Given the description of an element on the screen output the (x, y) to click on. 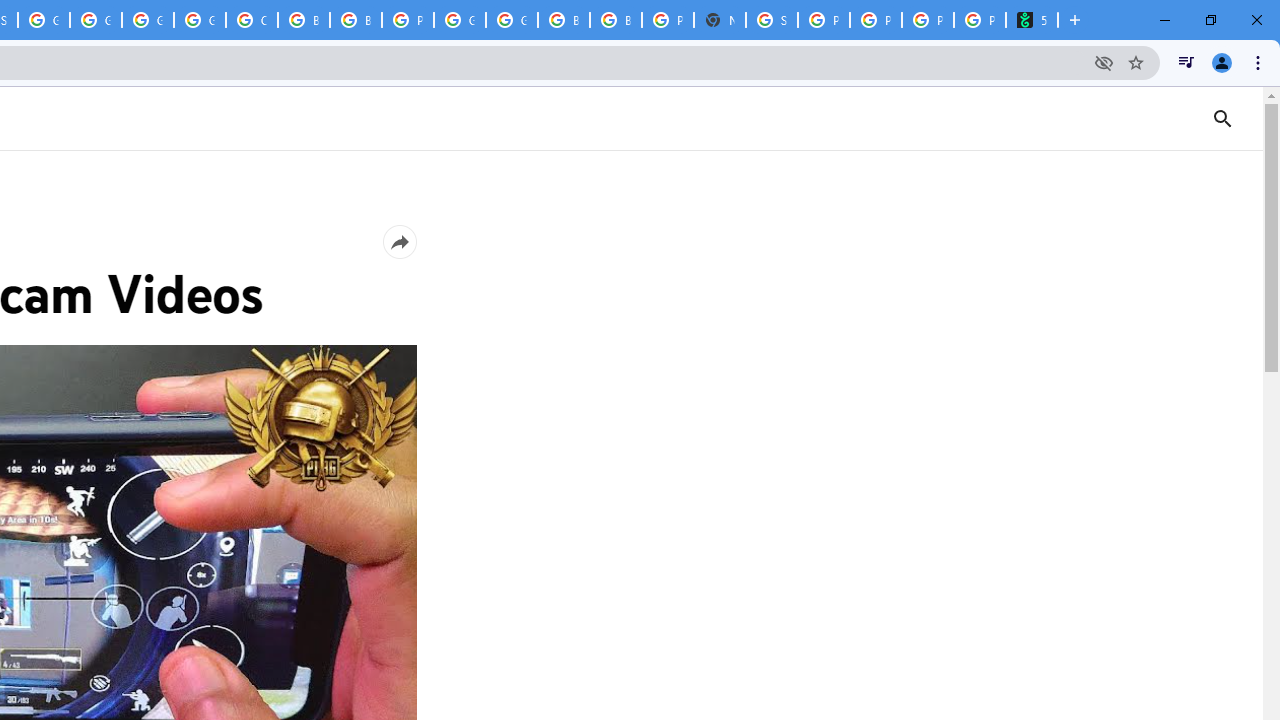
Google Cloud Platform (511, 20)
New Tab (719, 20)
Privacy Checkup (927, 20)
Google Cloud Platform (147, 20)
Browse Chrome as a guest - Computer - Google Chrome Help (616, 20)
Browse Chrome as a guest - Computer - Google Chrome Help (563, 20)
